Given the description of an element on the screen output the (x, y) to click on. 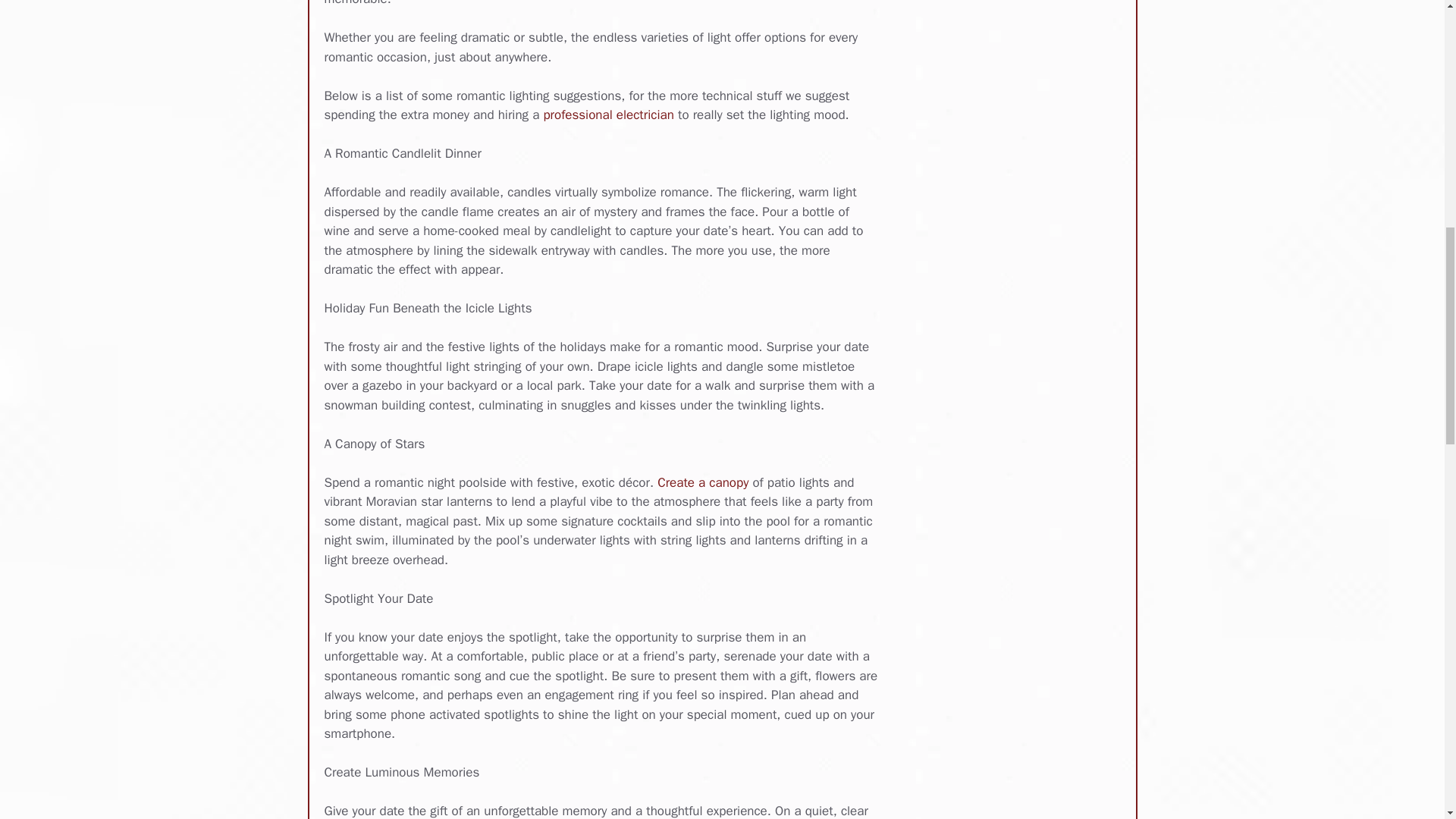
Scroll back to top (1406, 720)
